Given the description of an element on the screen output the (x, y) to click on. 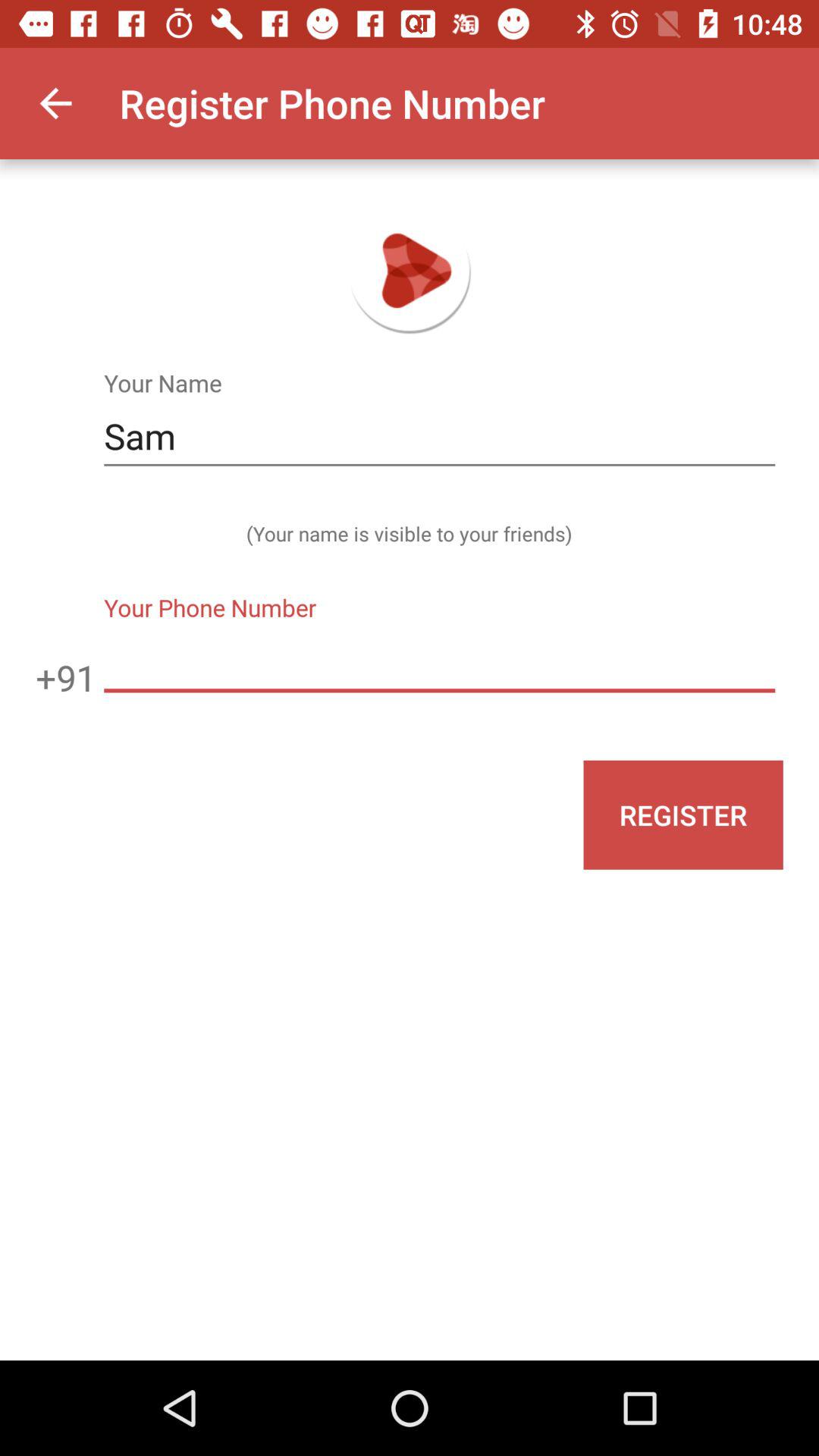
click the icon above the sam icon (55, 103)
